Given the description of an element on the screen output the (x, y) to click on. 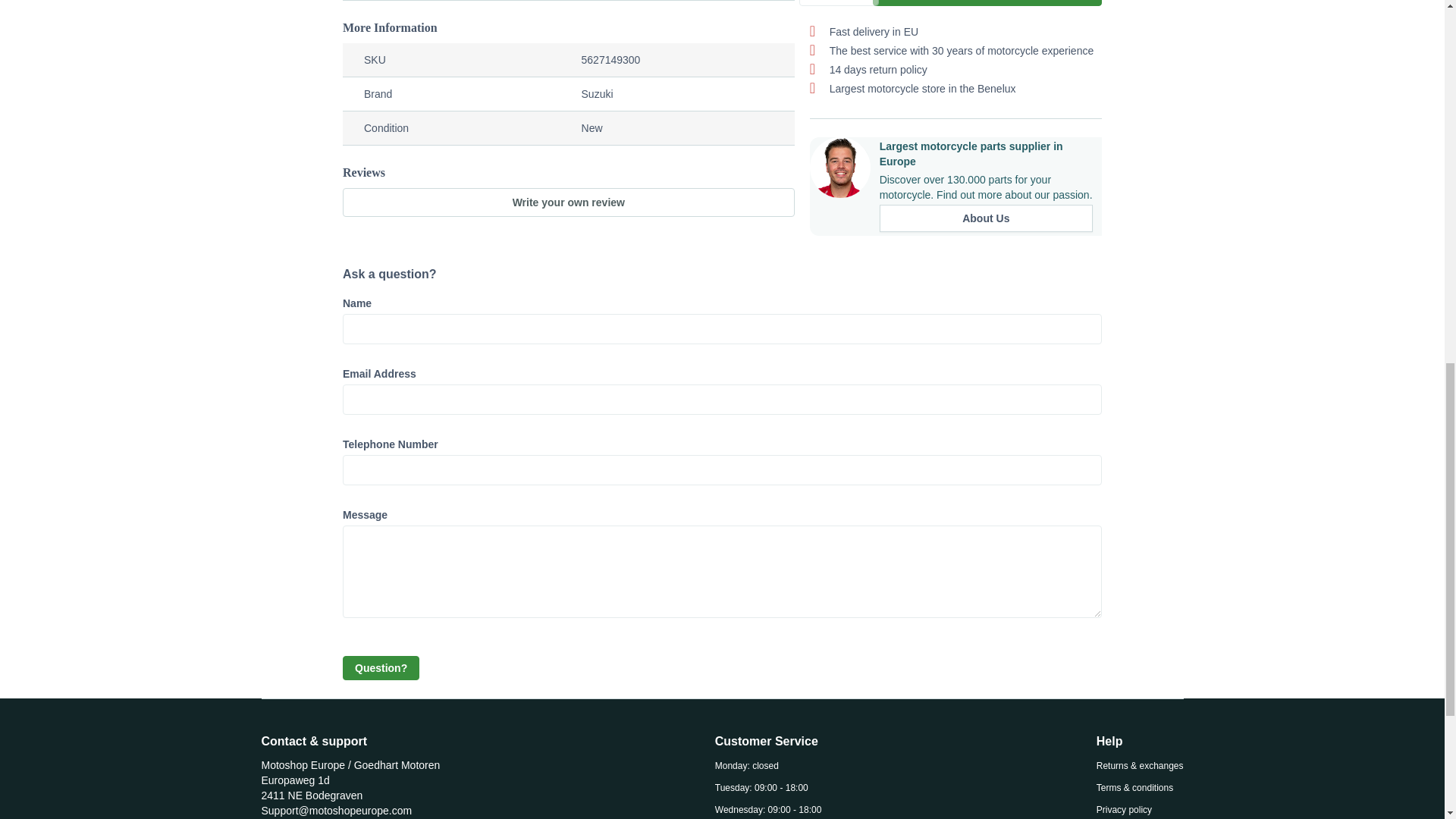
Question? (380, 668)
